Given the description of an element on the screen output the (x, y) to click on. 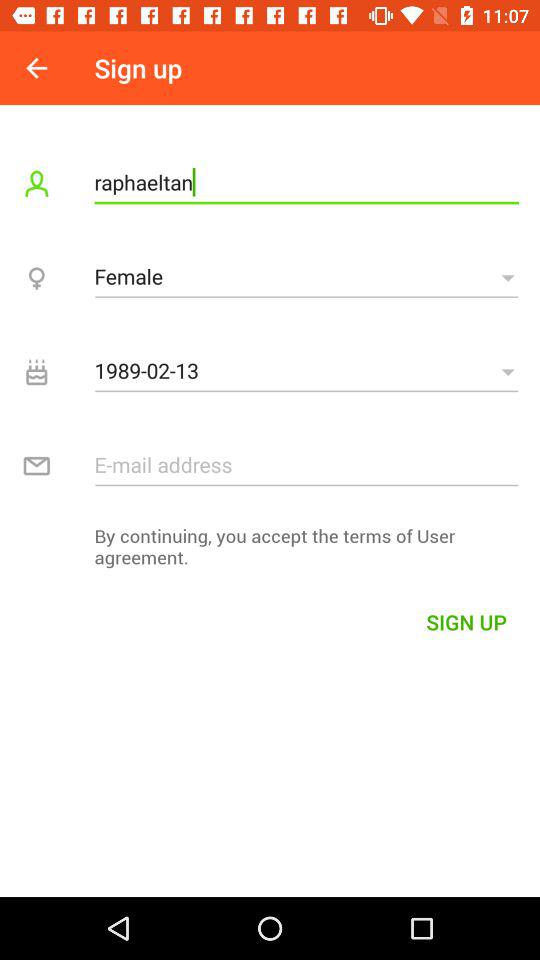
scroll to the by continuing you icon (270, 551)
